Given the description of an element on the screen output the (x, y) to click on. 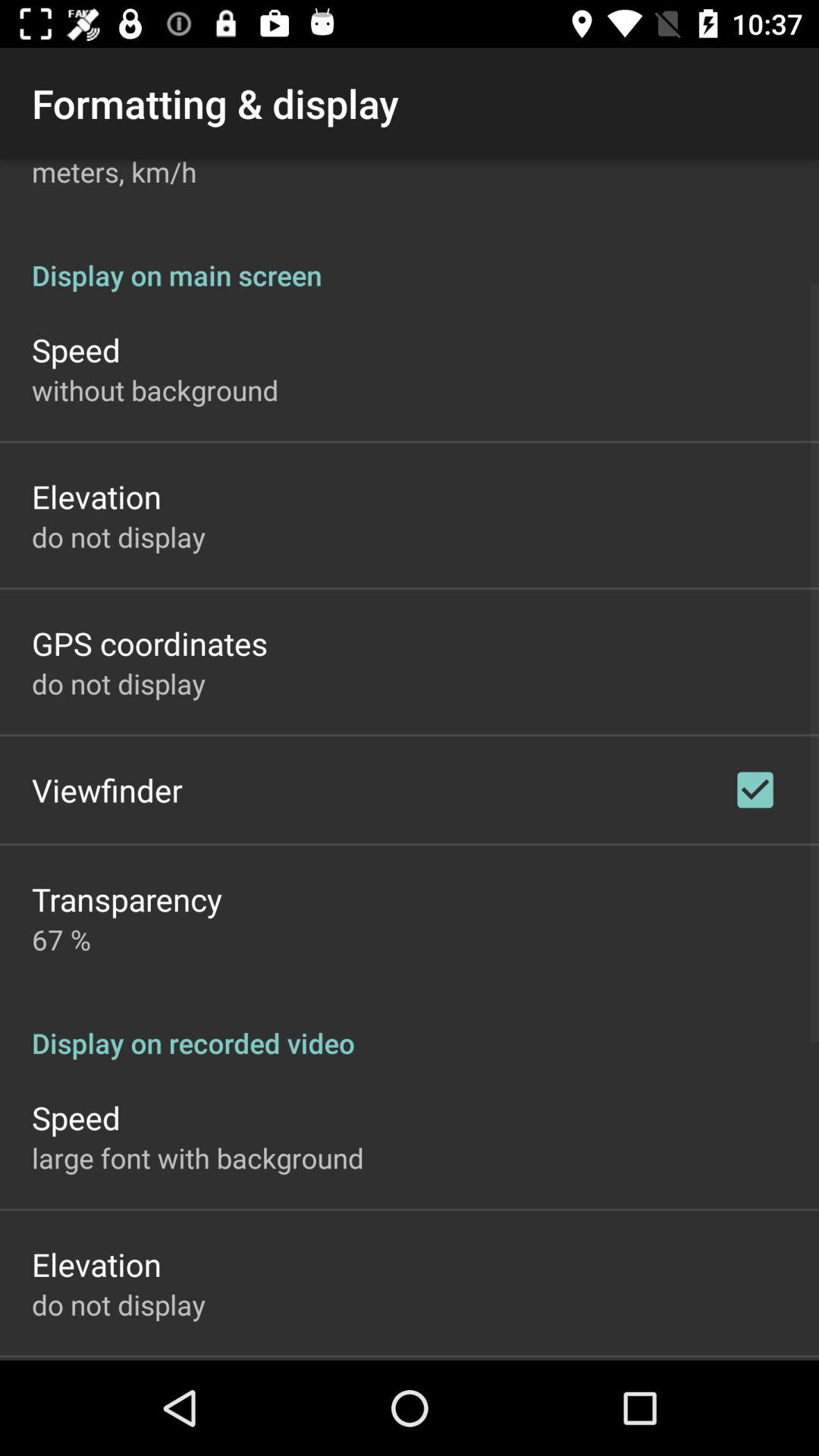
open item next to viewfinder item (755, 789)
